Given the description of an element on the screen output the (x, y) to click on. 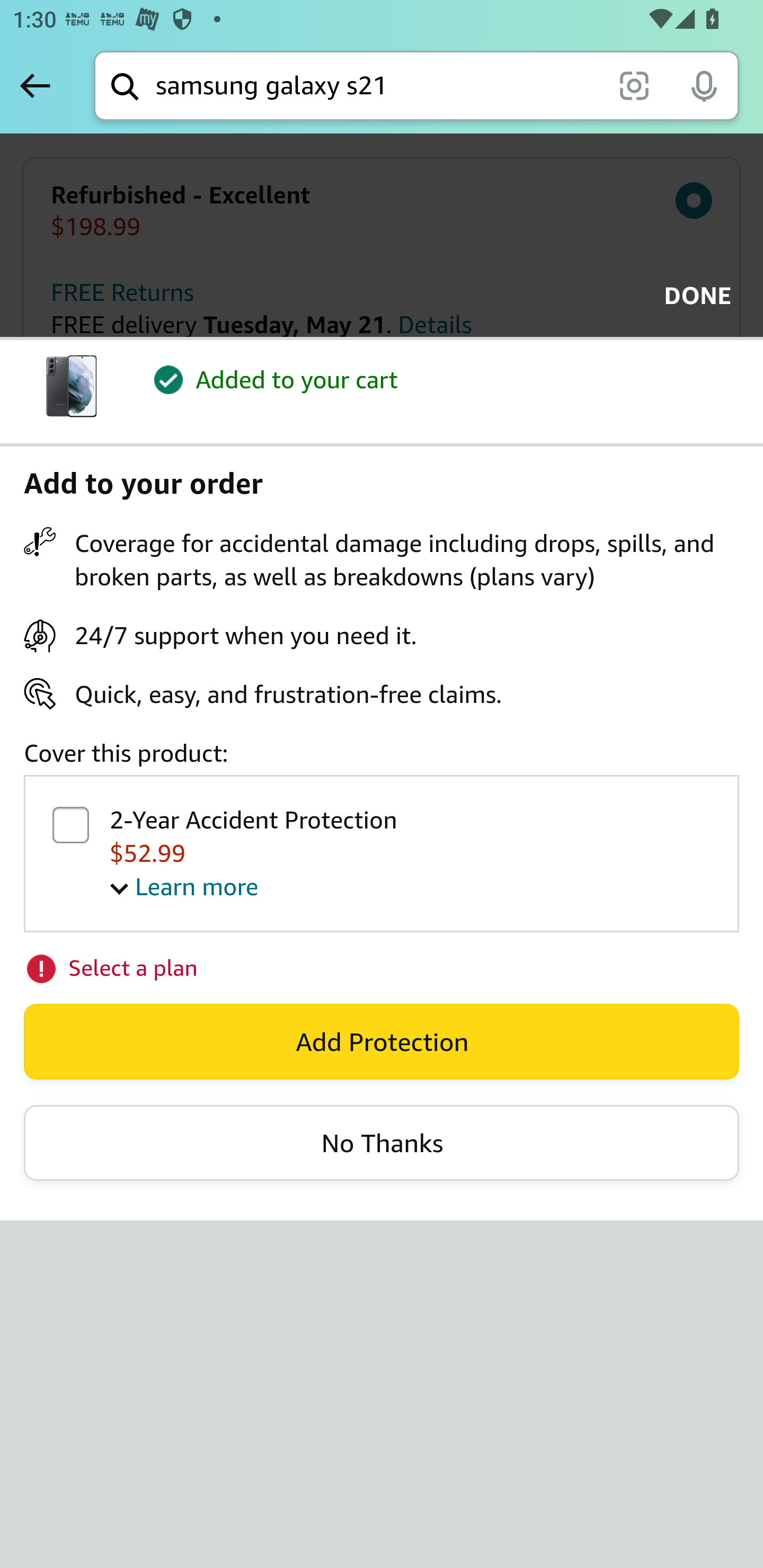
Back (35, 85)
scan it (633, 85)
DONE (691, 295)
Learn more (184, 886)
Add Protection (381, 1041)
No Thanks (381, 1142)
